Given the description of an element on the screen output the (x, y) to click on. 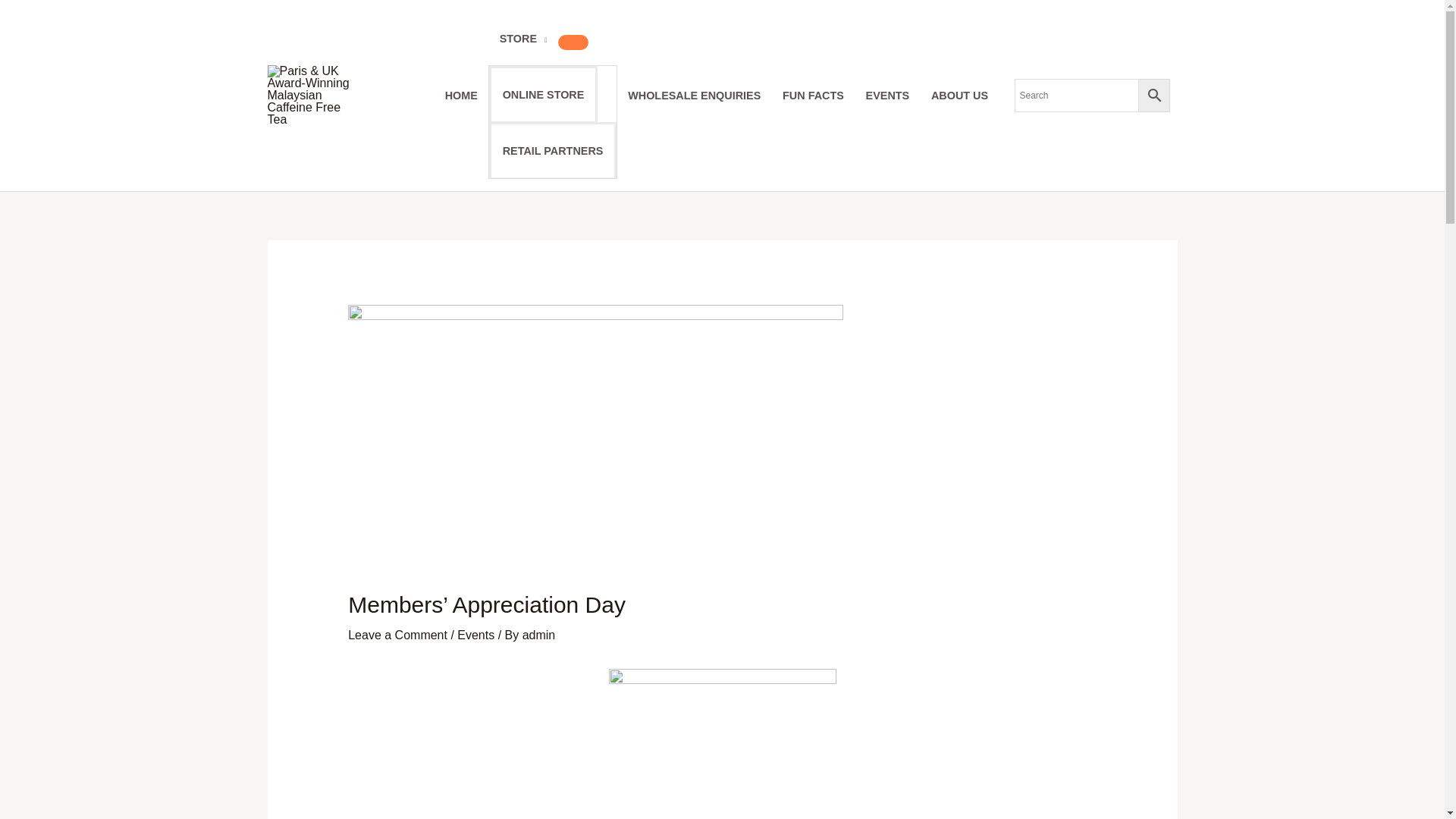
Events (224, 551)
Leave a Comment (145, 551)
STORE (834, 45)
FUN FACTS (1064, 45)
View all posts by admin (285, 551)
ABOUT US (1211, 45)
HOME (772, 45)
admin (285, 551)
WHOLESALE ENQUIRIES (946, 45)
EVENTS (1139, 45)
